Given the description of an element on the screen output the (x, y) to click on. 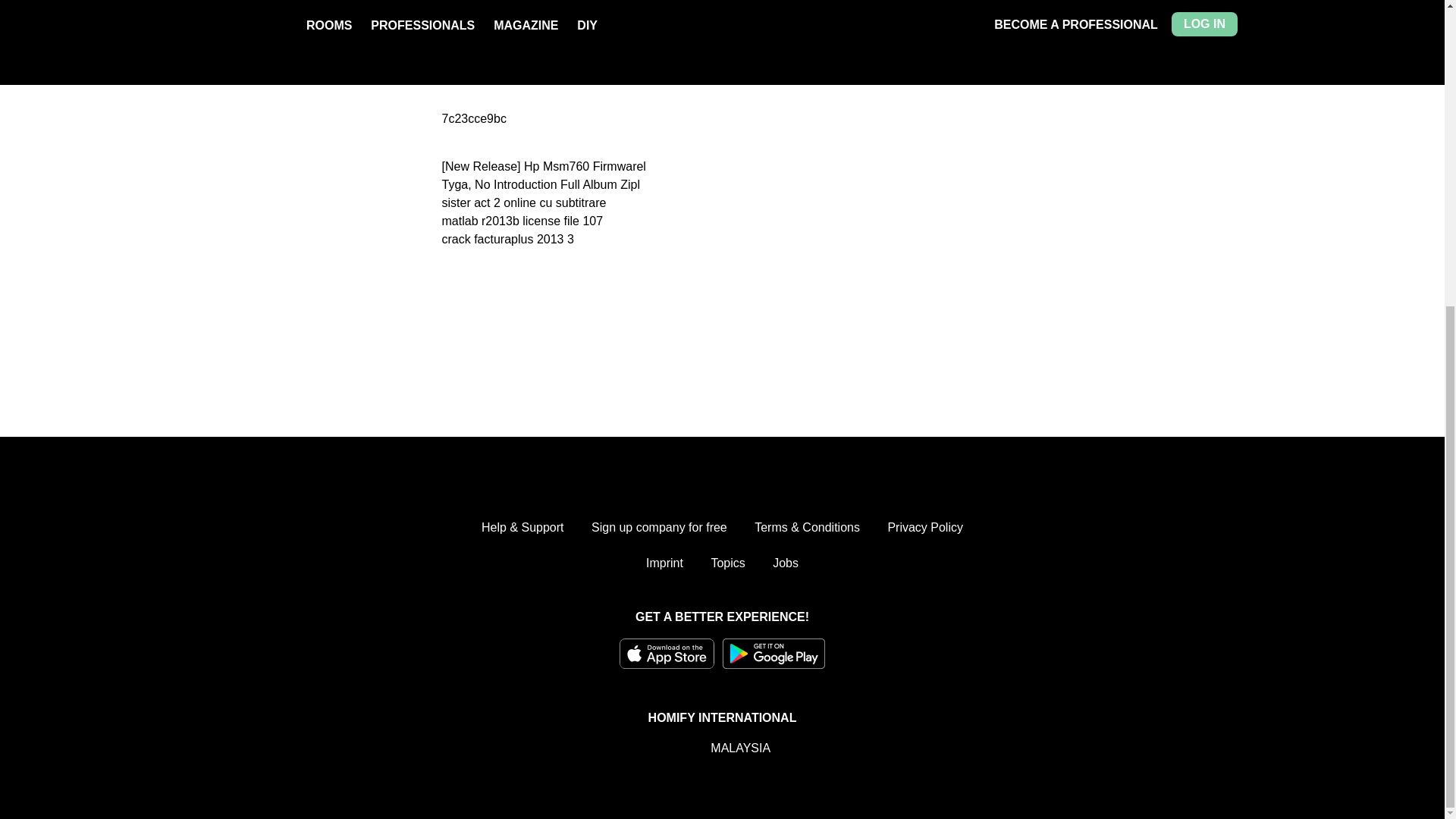
Privacy Policy (924, 527)
Topics (727, 563)
Sign up company for free (658, 527)
Imprint (664, 563)
Jobs (785, 563)
